Given the description of an element on the screen output the (x, y) to click on. 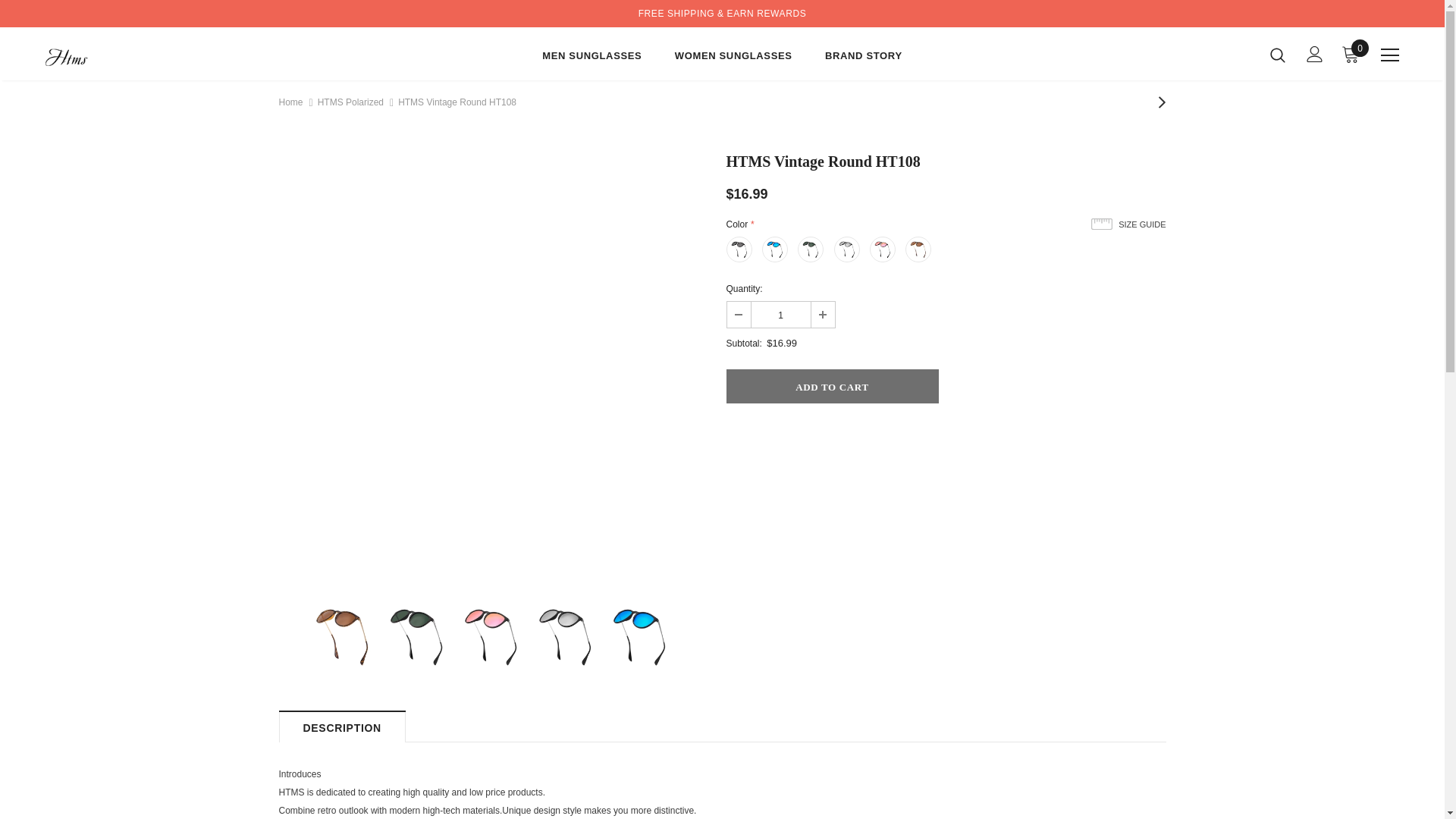
1 (780, 314)
Search Icon (1277, 54)
WOMEN SUNGLASSES (733, 58)
Logo (134, 53)
Add to Cart (832, 386)
BRAND STORY (863, 58)
0 (1349, 54)
MEN SUNGLASSES (591, 58)
